Given the description of an element on the screen output the (x, y) to click on. 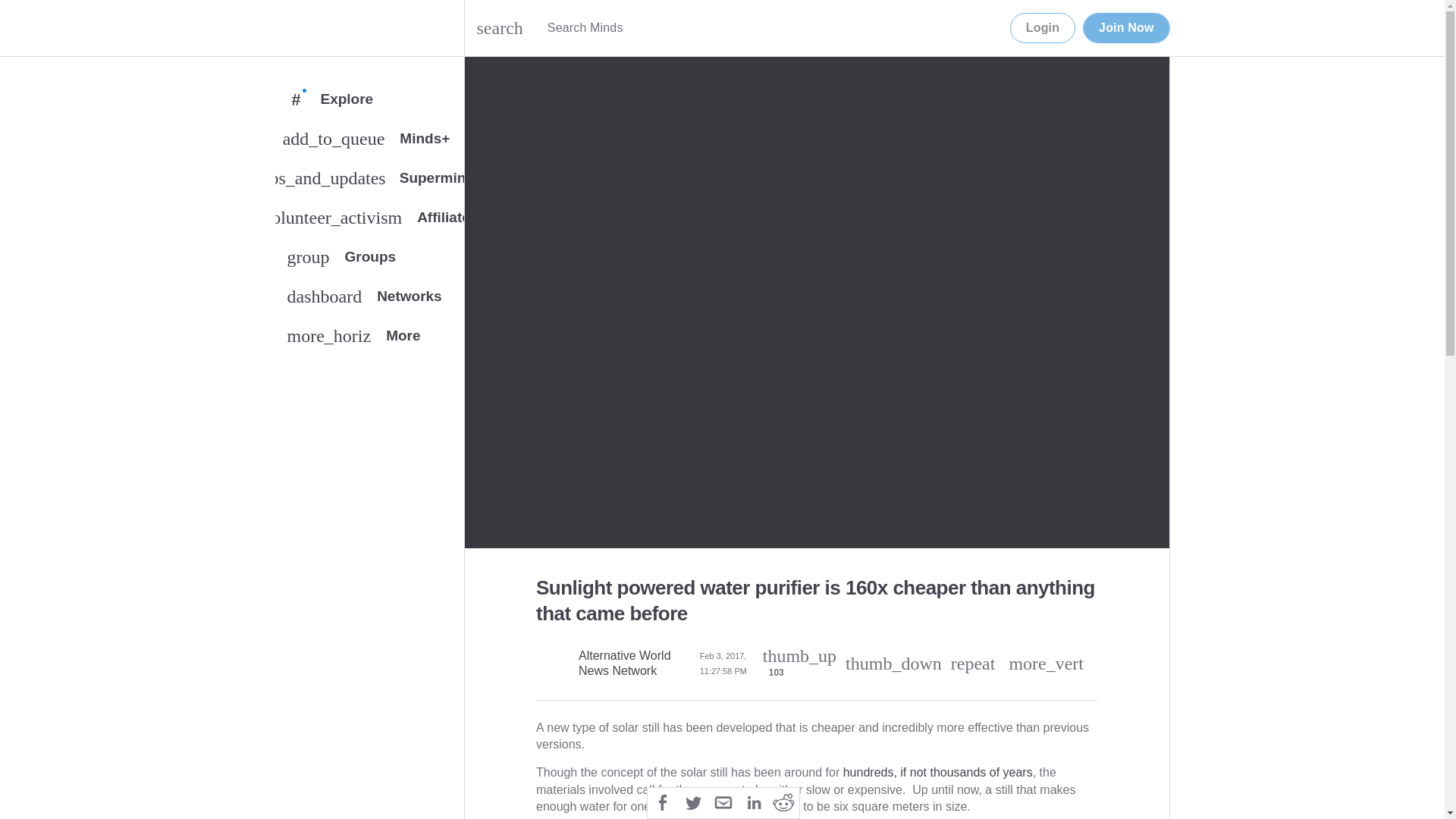
Facebook (369, 260)
Home (662, 801)
Join Now (290, 28)
Join Now (1126, 28)
repeat (1126, 28)
Alternative World News Network (972, 663)
LinkedIn (369, 299)
Login (635, 663)
